Given the description of an element on the screen output the (x, y) to click on. 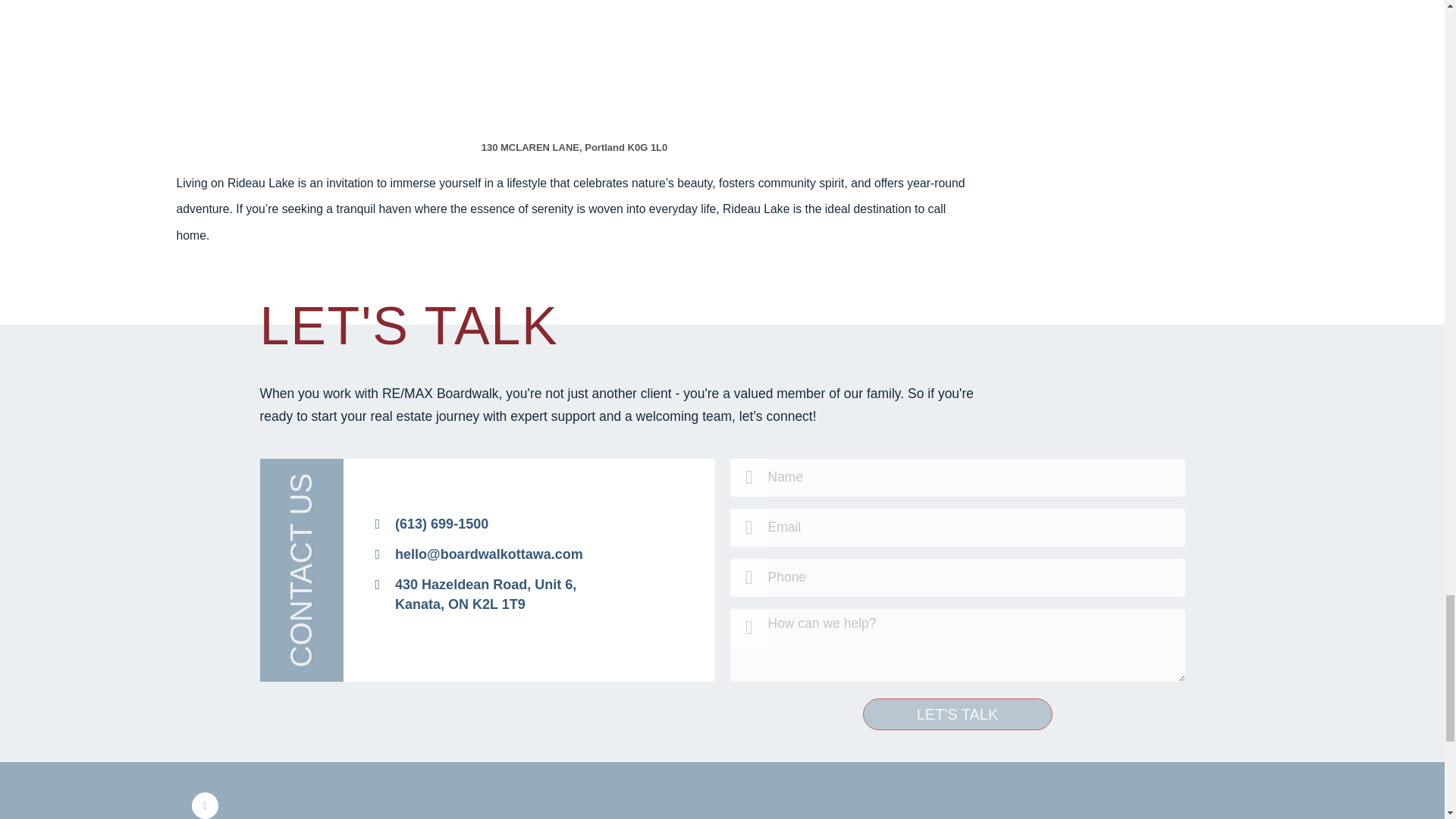
Let's talk (475, 594)
Let's talk (957, 714)
